Given the description of an element on the screen output the (x, y) to click on. 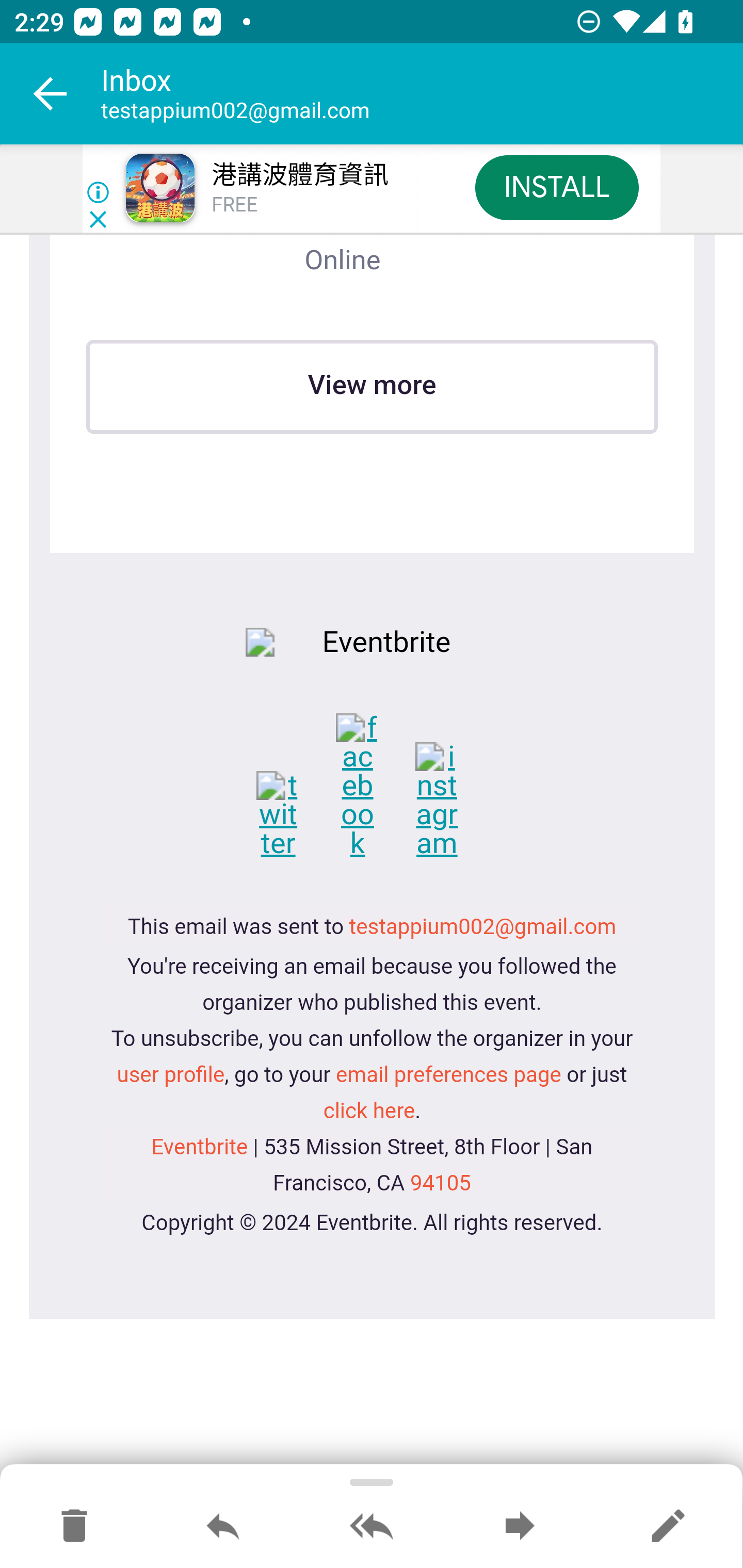
Navigate up (50, 93)
Inbox testappium002@gmail.com (422, 93)
INSTALL (556, 187)
港講波體育資訊 (299, 175)
FREE (234, 204)
View more (371, 386)
Eventbrite's Facebook facebook (372, 786)
Eventbrite's Instagram instagram (450, 801)
Eventbrite's Twitter twitter (292, 815)
testappium002@gmail.com (482, 928)
user profile (170, 1075)
email preferences page (448, 1075)
click here (368, 1111)
Eventbrite (198, 1147)
94105 (439, 1183)
Move to Deleted (74, 1527)
Reply (222, 1527)
Reply all (371, 1527)
Forward (519, 1527)
Reply as new (667, 1527)
